Given the description of an element on the screen output the (x, y) to click on. 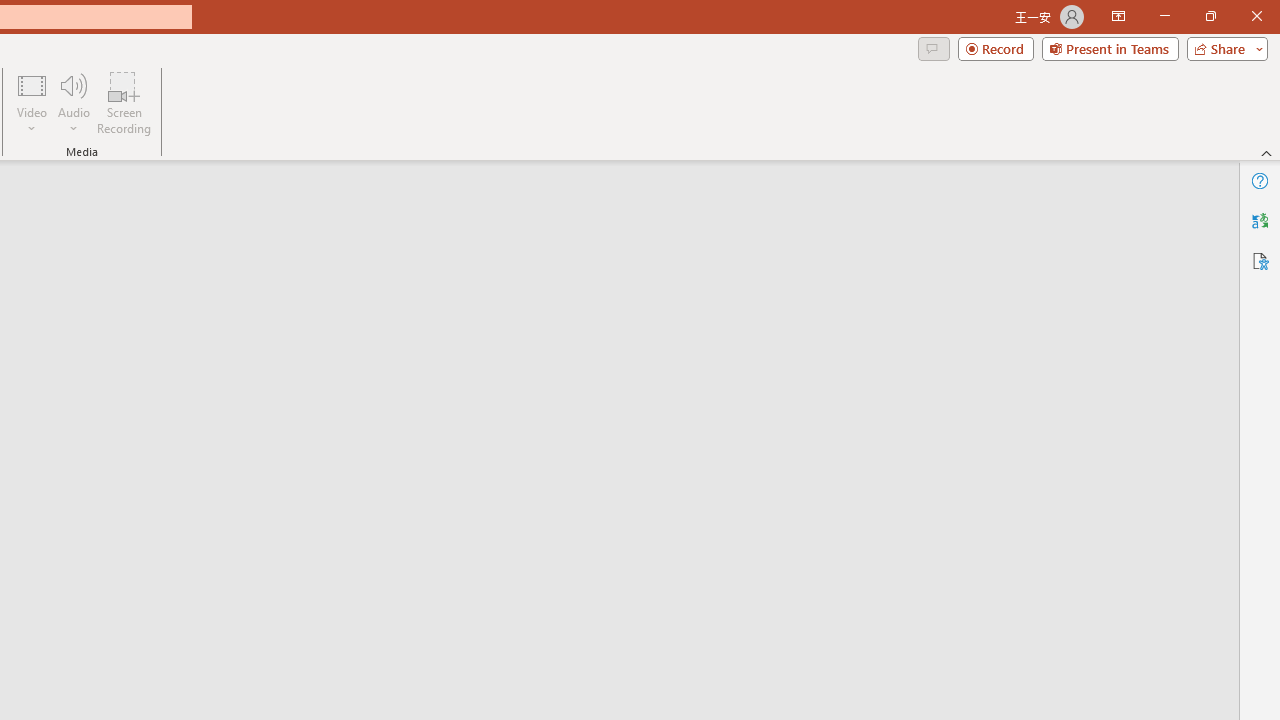
644553698@qq.com (644, 672)
+86 159 0032 4640 (447, 672)
